Given the description of an element on the screen output the (x, y) to click on. 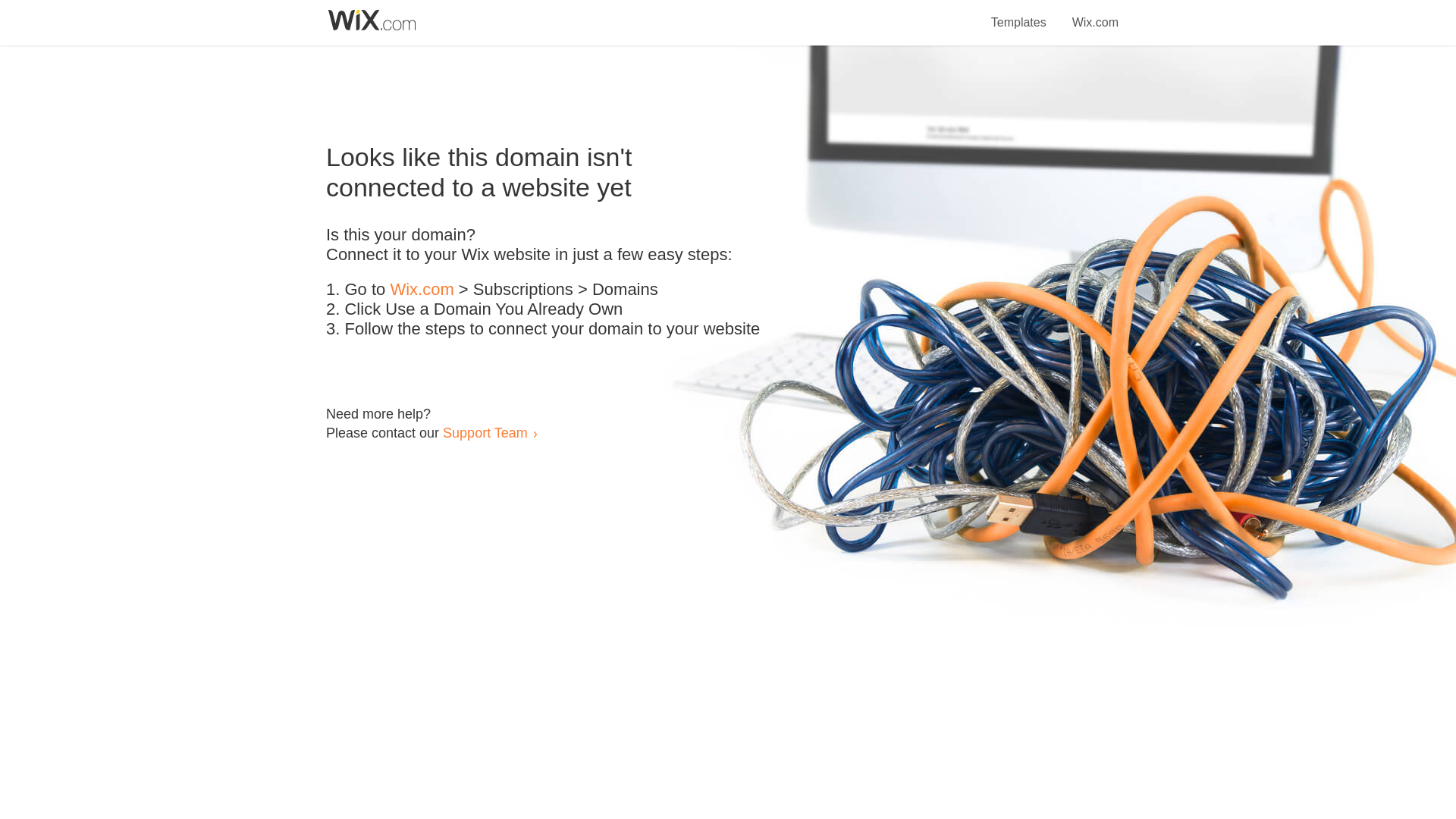
Templates (1018, 14)
Wix.com (421, 289)
Support Team (484, 432)
Wix.com (1095, 14)
